Given the description of an element on the screen output the (x, y) to click on. 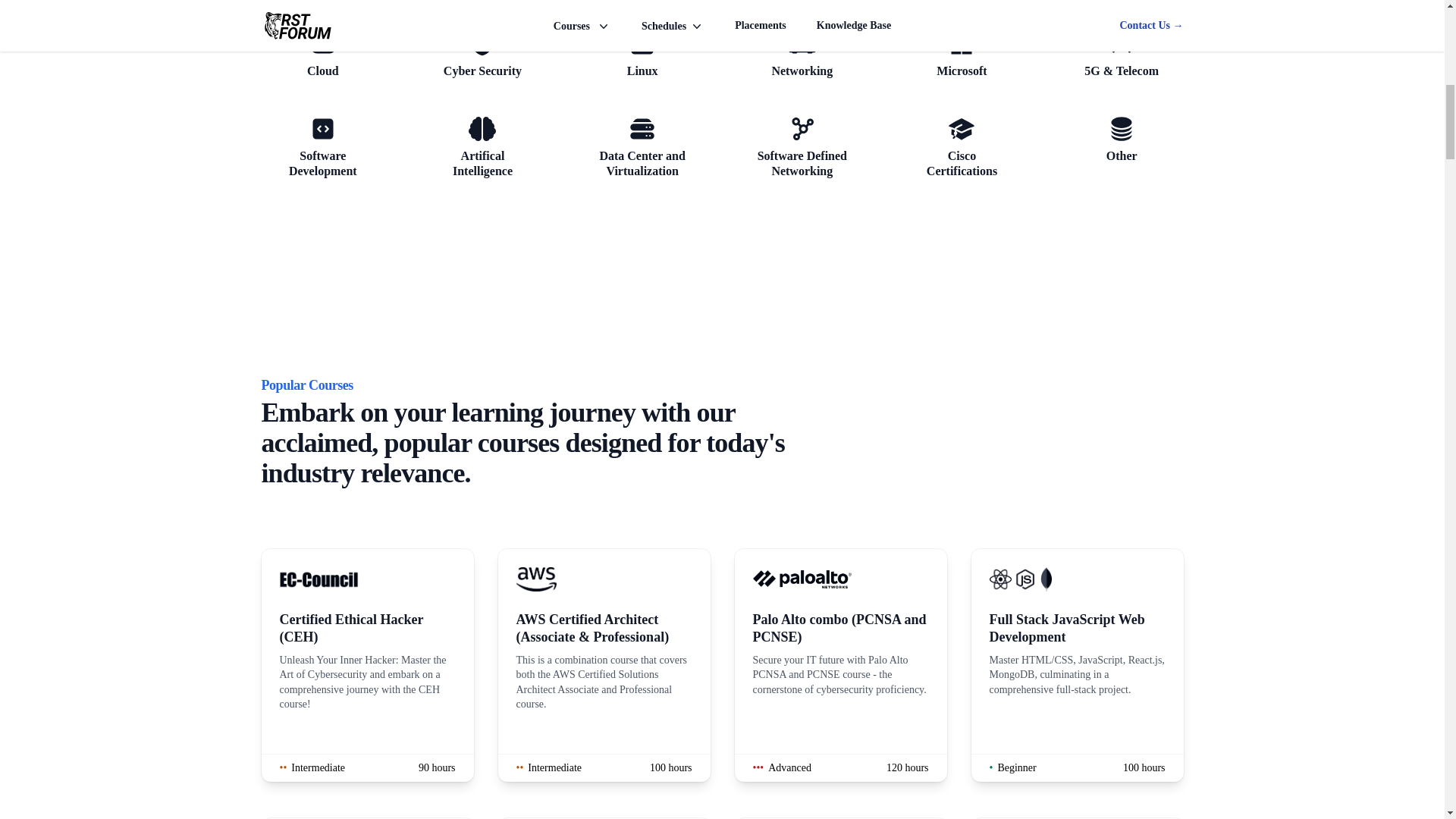
Networking (482, 147)
Microsoft (801, 54)
Linux (961, 54)
Cyber Security (642, 54)
Software Defined Networking (482, 54)
Data Center and Virtualization (801, 147)
Cloud (642, 147)
Other (322, 54)
